Given the description of an element on the screen output the (x, y) to click on. 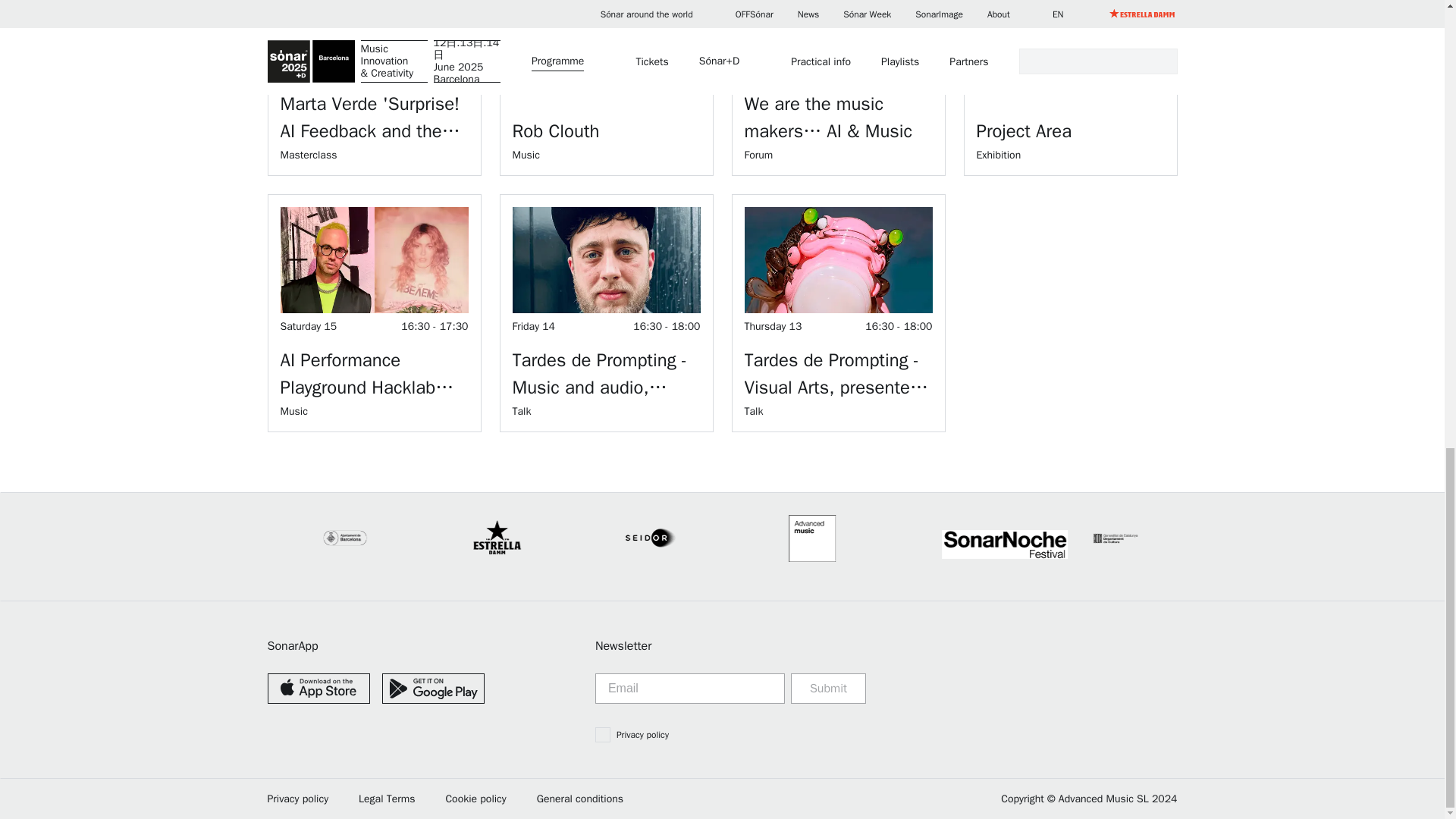
on (602, 734)
